Given the description of an element on the screen output the (x, y) to click on. 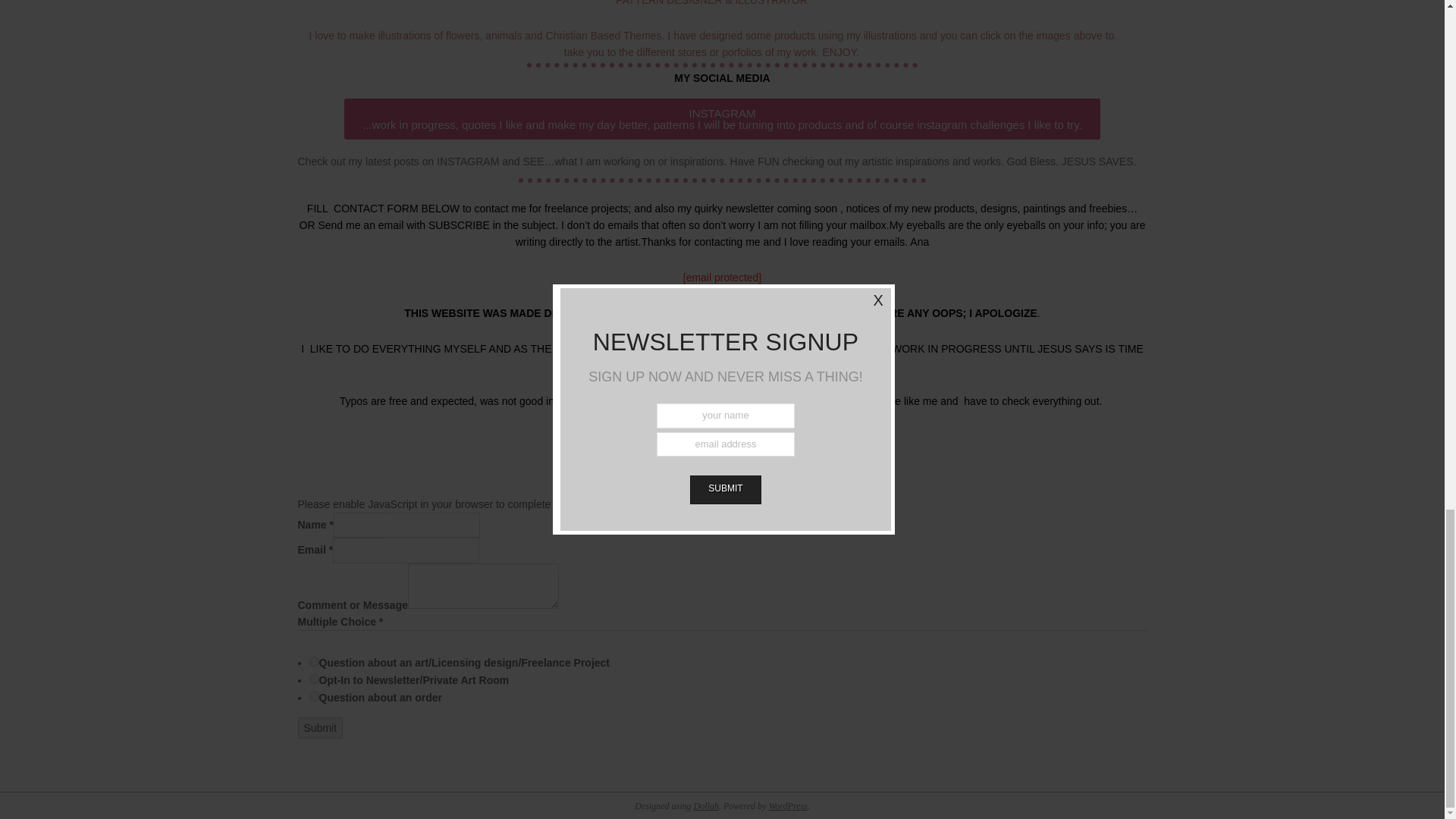
WordPress (787, 805)
Dollah (706, 805)
Submit (319, 727)
Question about an order (313, 696)
Dollah WordPress Theme (706, 805)
